Given the description of an element on the screen output the (x, y) to click on. 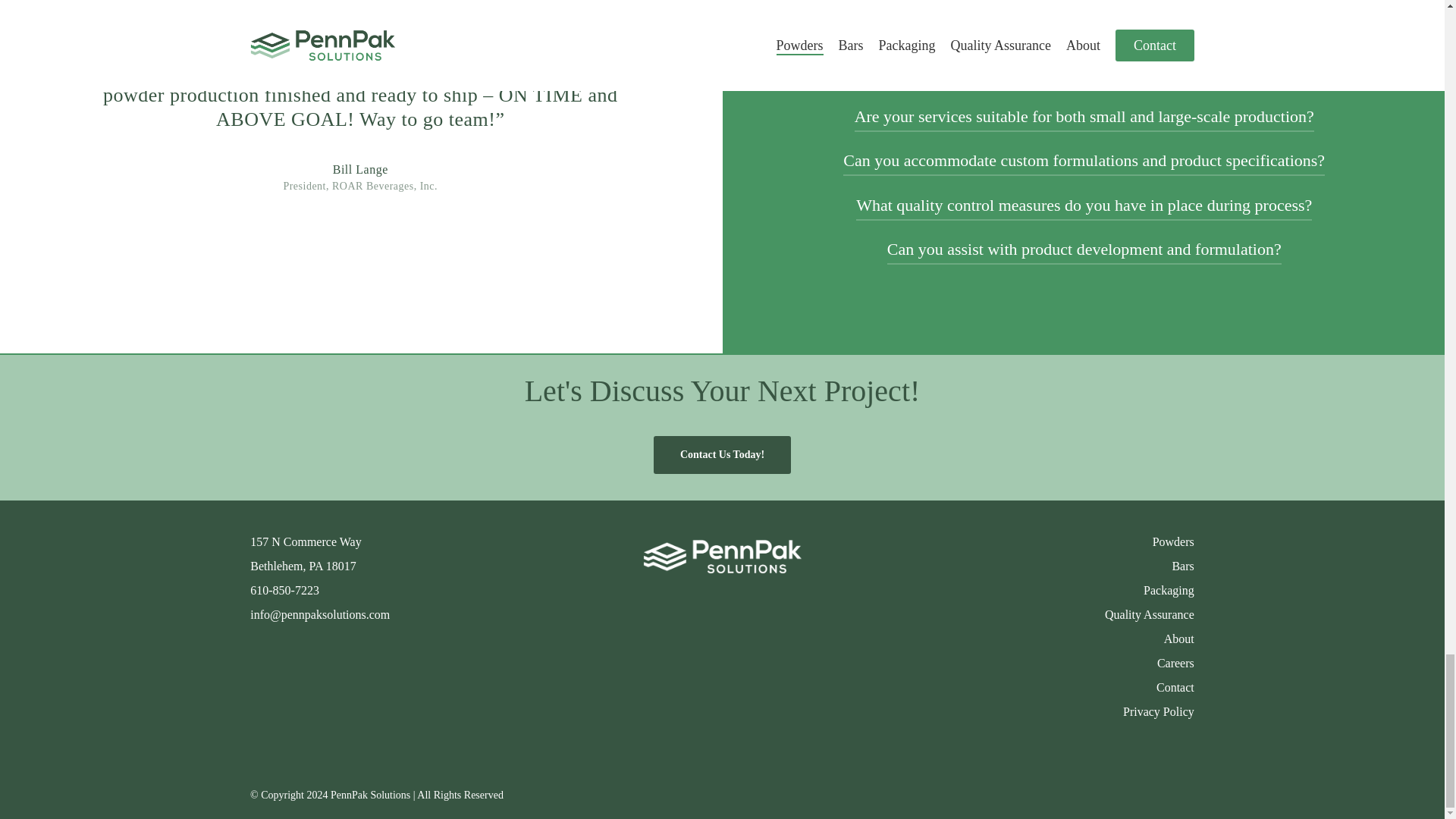
Careers (1175, 662)
Powders (1173, 541)
About (1178, 638)
Who can benefit from your solutions? (1084, 71)
Packaging (1167, 590)
Privacy Policy (1157, 711)
Can you assist with product development and formulation? (1083, 249)
Contact (1174, 686)
Bars (1182, 565)
Quality Assurance (1149, 614)
Contact Us Today! (721, 454)
